Given the description of an element on the screen output the (x, y) to click on. 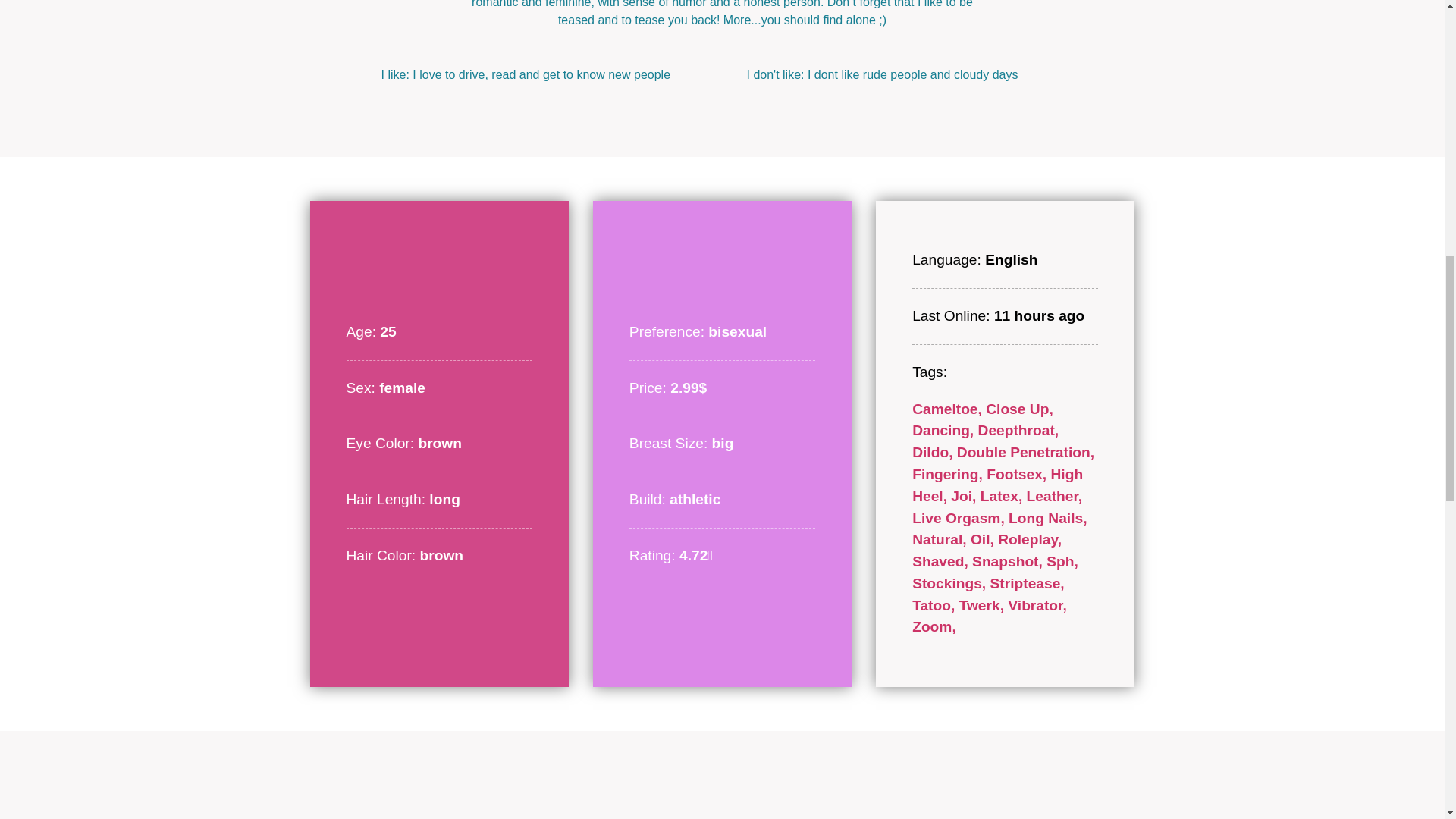
Close Up (1018, 408)
Dancing (944, 430)
Cameltoe (948, 408)
